Given the description of an element on the screen output the (x, y) to click on. 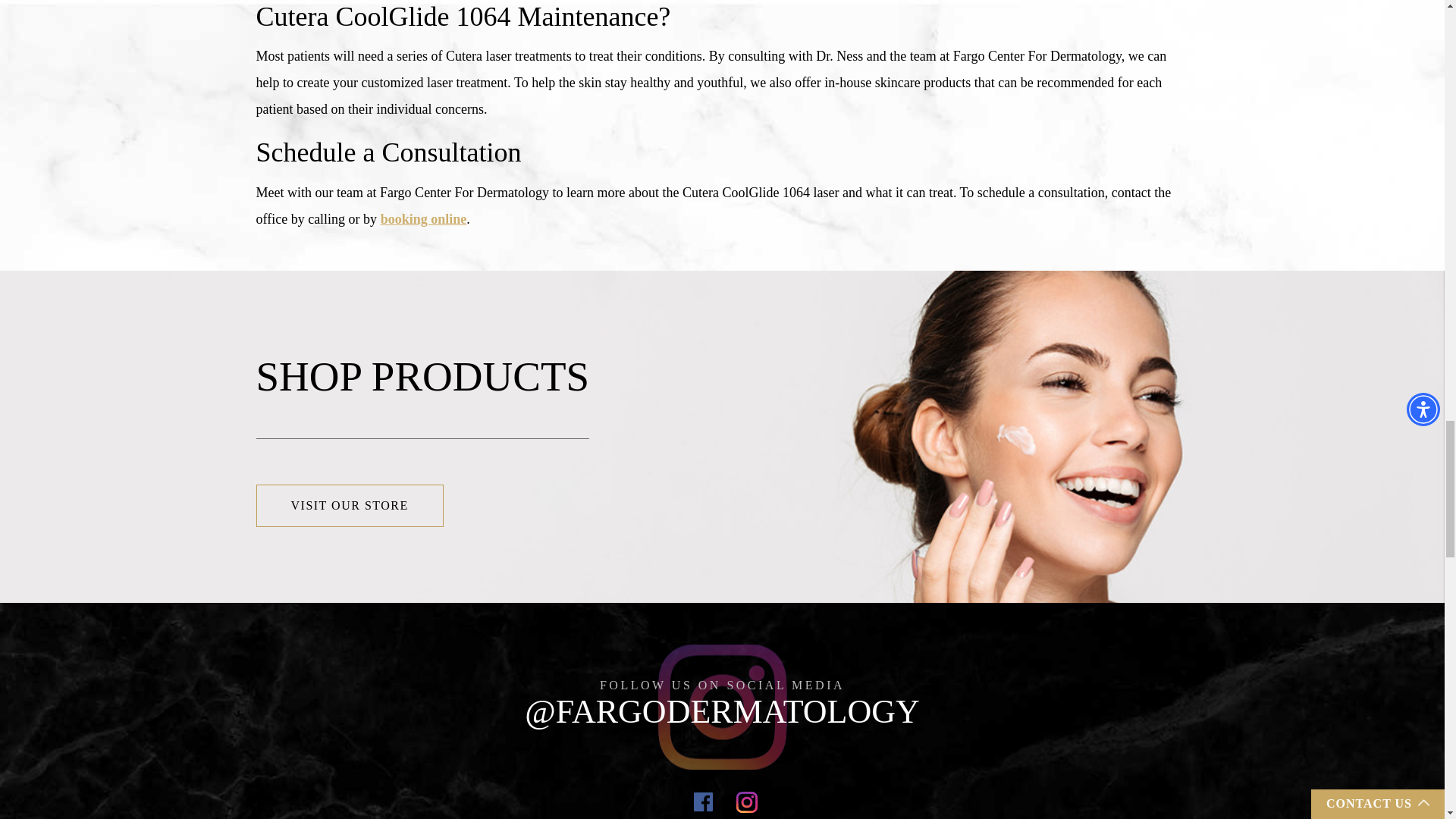
Instagram (746, 800)
Facebook (703, 800)
